Given the description of an element on the screen output the (x, y) to click on. 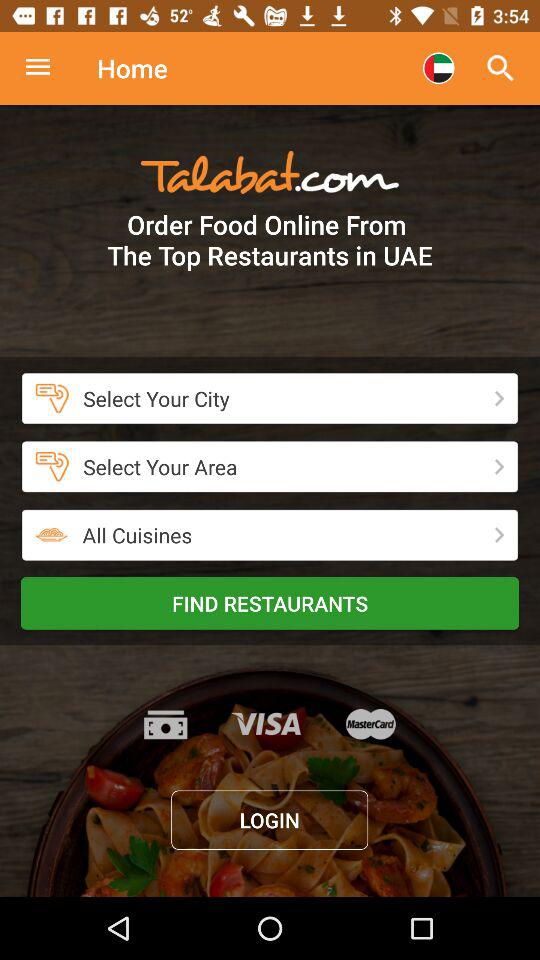
choose country (438, 68)
